Given the description of an element on the screen output the (x, y) to click on. 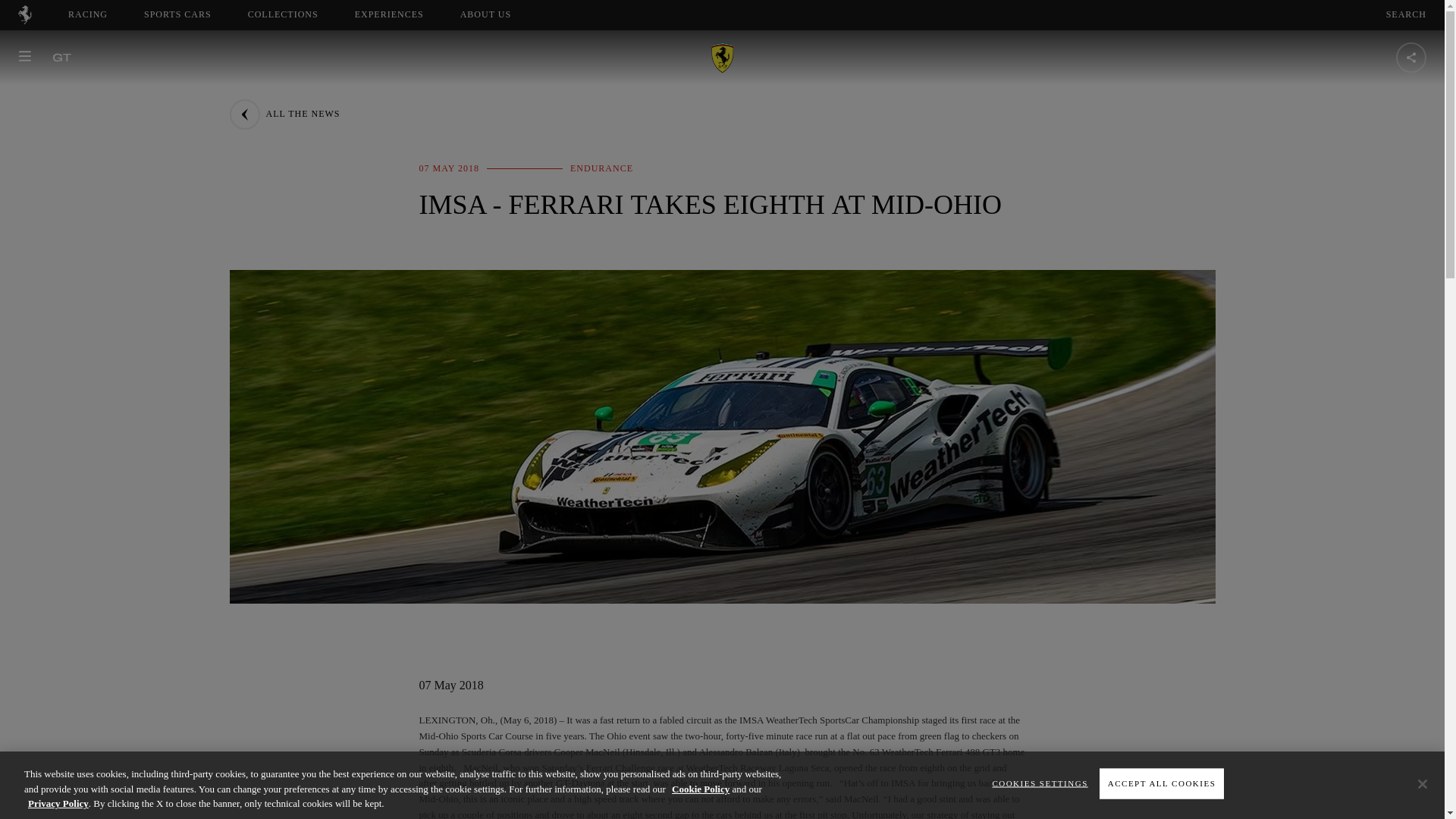
SEARCH (1406, 14)
SPORTS CARS (177, 14)
ALL THE NEWS (283, 114)
ABOUT US (485, 14)
RACING (87, 14)
Ferrari logo (499, 14)
COLLECTIONS (24, 19)
EXPERIENCES (282, 14)
